Given the description of an element on the screen output the (x, y) to click on. 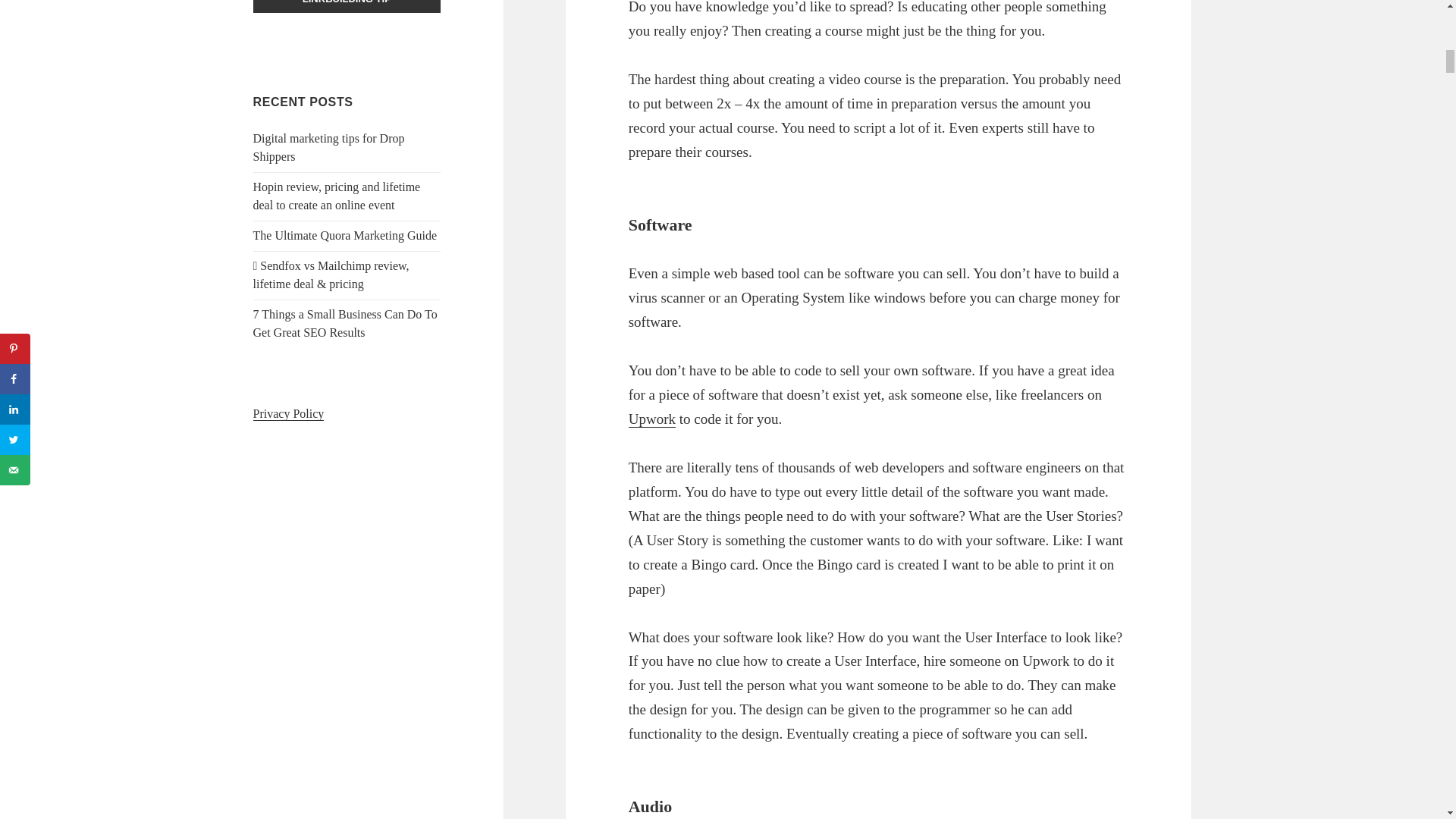
7 Things a Small Business Can Do To Get Great SEO Results (345, 323)
The Ultimate Quora Marketing Guide (345, 235)
Privacy Policy (288, 413)
Digital marketing tips for Drop Shippers (328, 146)
